Given the description of an element on the screen output the (x, y) to click on. 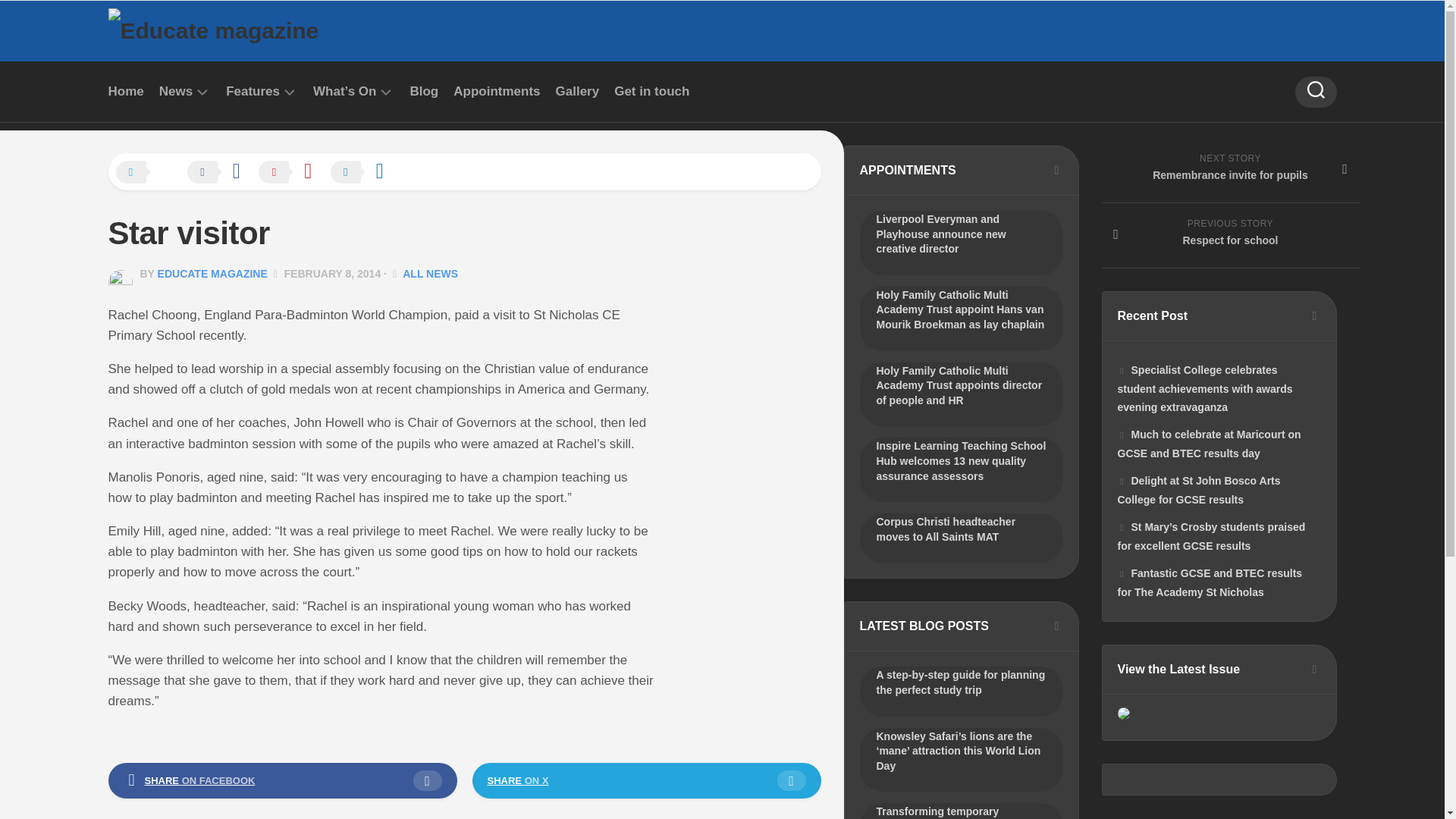
Share on LinkedIn (364, 172)
Appointments (496, 91)
Home (124, 91)
ALL NEWS (430, 273)
News (175, 91)
Gallery (577, 91)
Share on Facebook (221, 172)
Blog (423, 91)
Share on X (149, 172)
Share on Pinterest (292, 172)
